Given the description of an element on the screen output the (x, y) to click on. 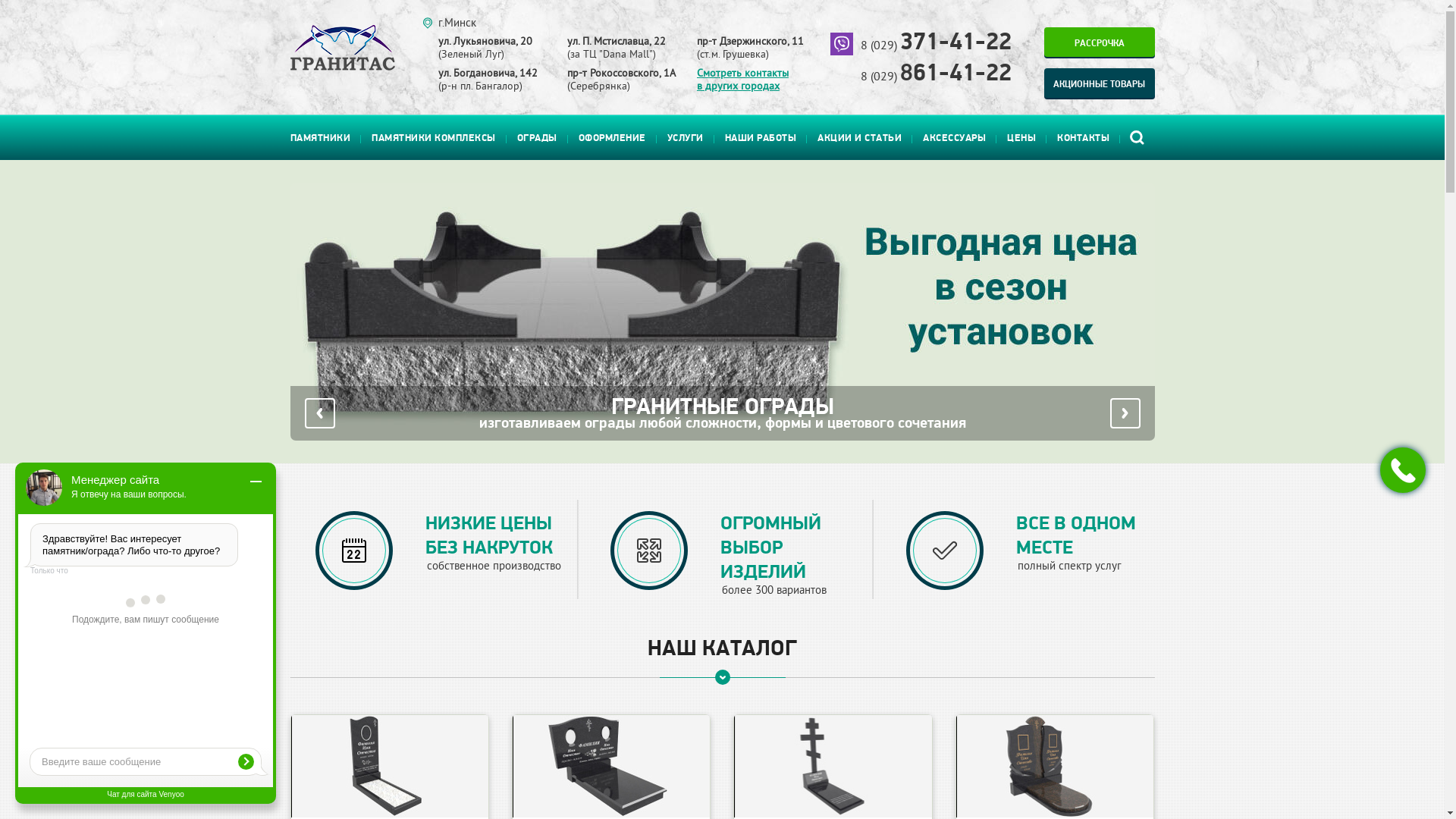
8 (029) 861-41-22 Element type: text (934, 76)
8 (029) 371-41-22 Element type: text (934, 45)
